Given the description of an element on the screen output the (x, y) to click on. 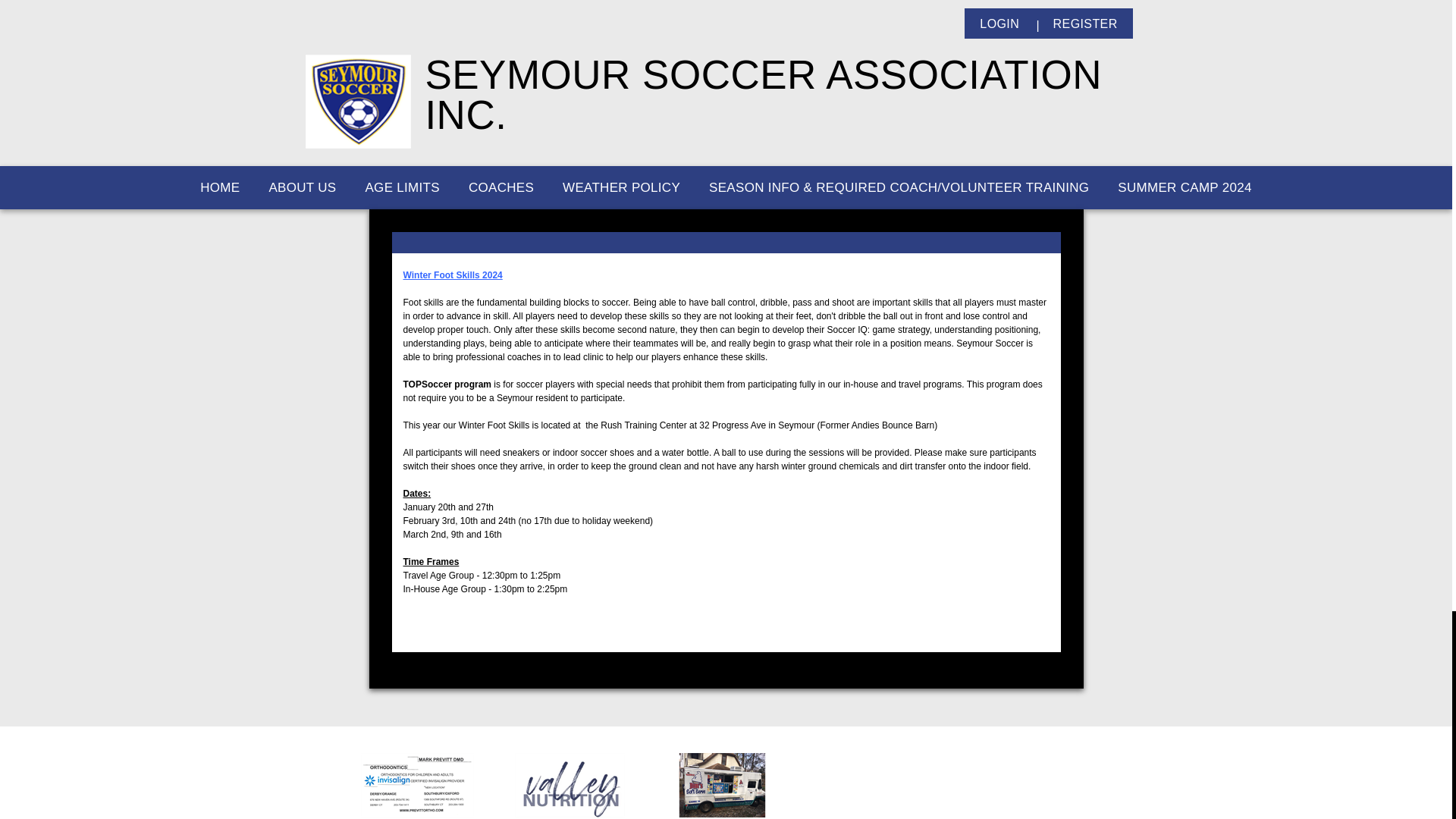
AGE LIMITS (401, 187)
LOGIN (998, 24)
ABOUT US (301, 187)
REGISTER (1085, 24)
WEATHER POLICY (621, 187)
HOME (219, 187)
COACHES (501, 187)
Seymour Soccer Association Inc. (357, 100)
